Given the description of an element on the screen output the (x, y) to click on. 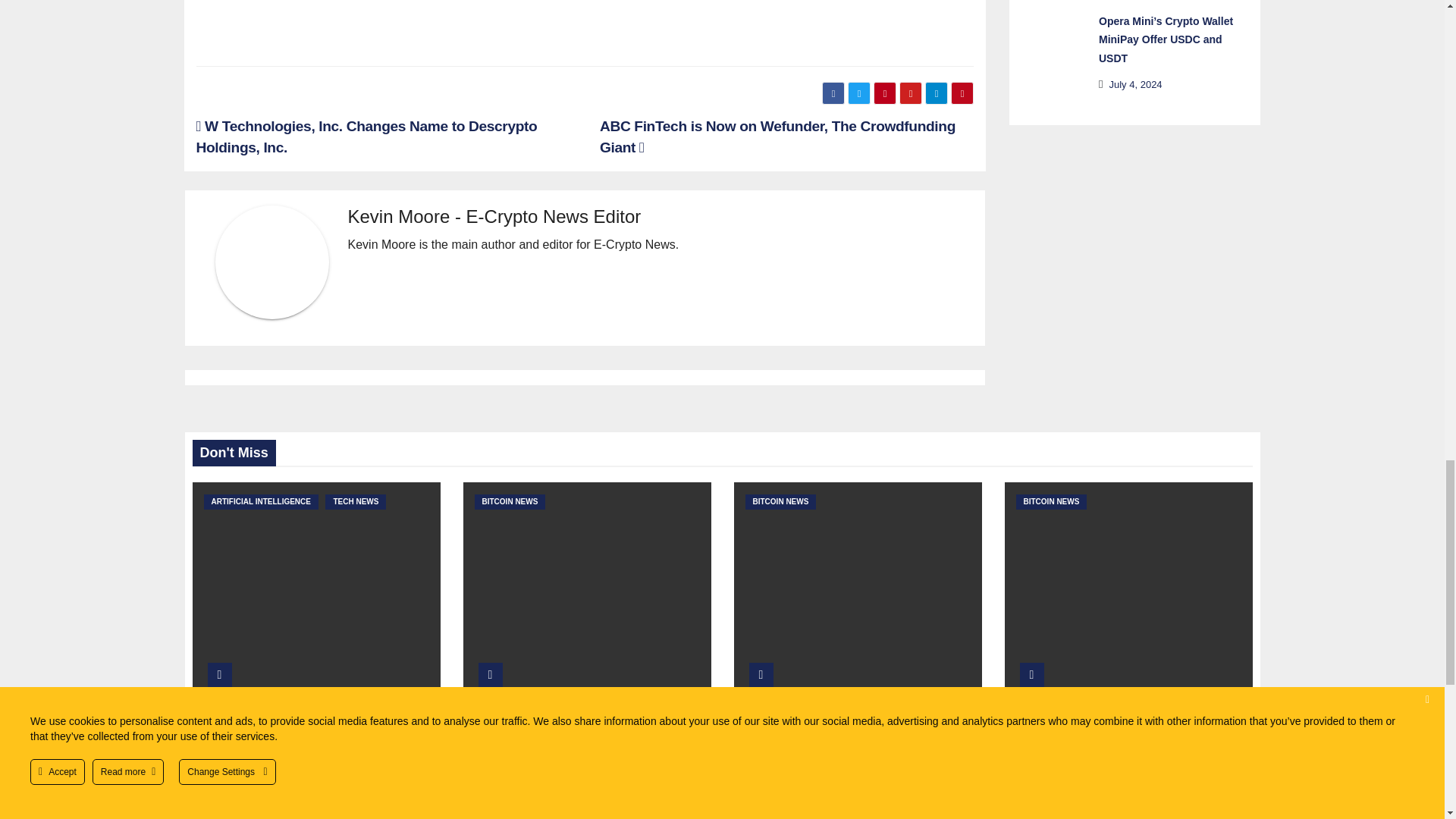
ABC FinTech is Now on Wefunder, The Crowdfunding Giant (777, 136)
AI Trading Robot (584, 25)
